Given the description of an element on the screen output the (x, y) to click on. 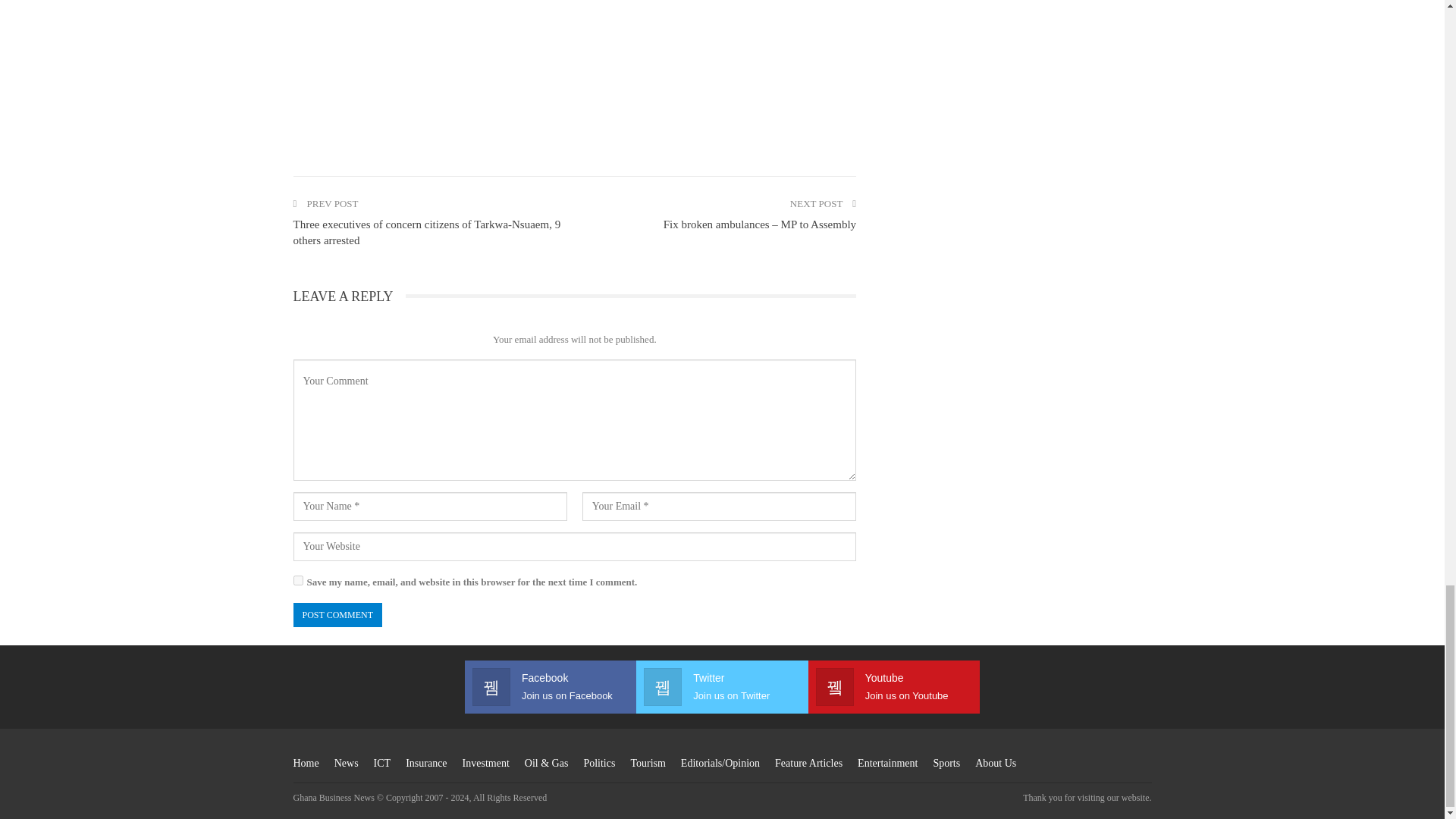
yes (297, 580)
Post Comment (336, 614)
